Given the description of an element on the screen output the (x, y) to click on. 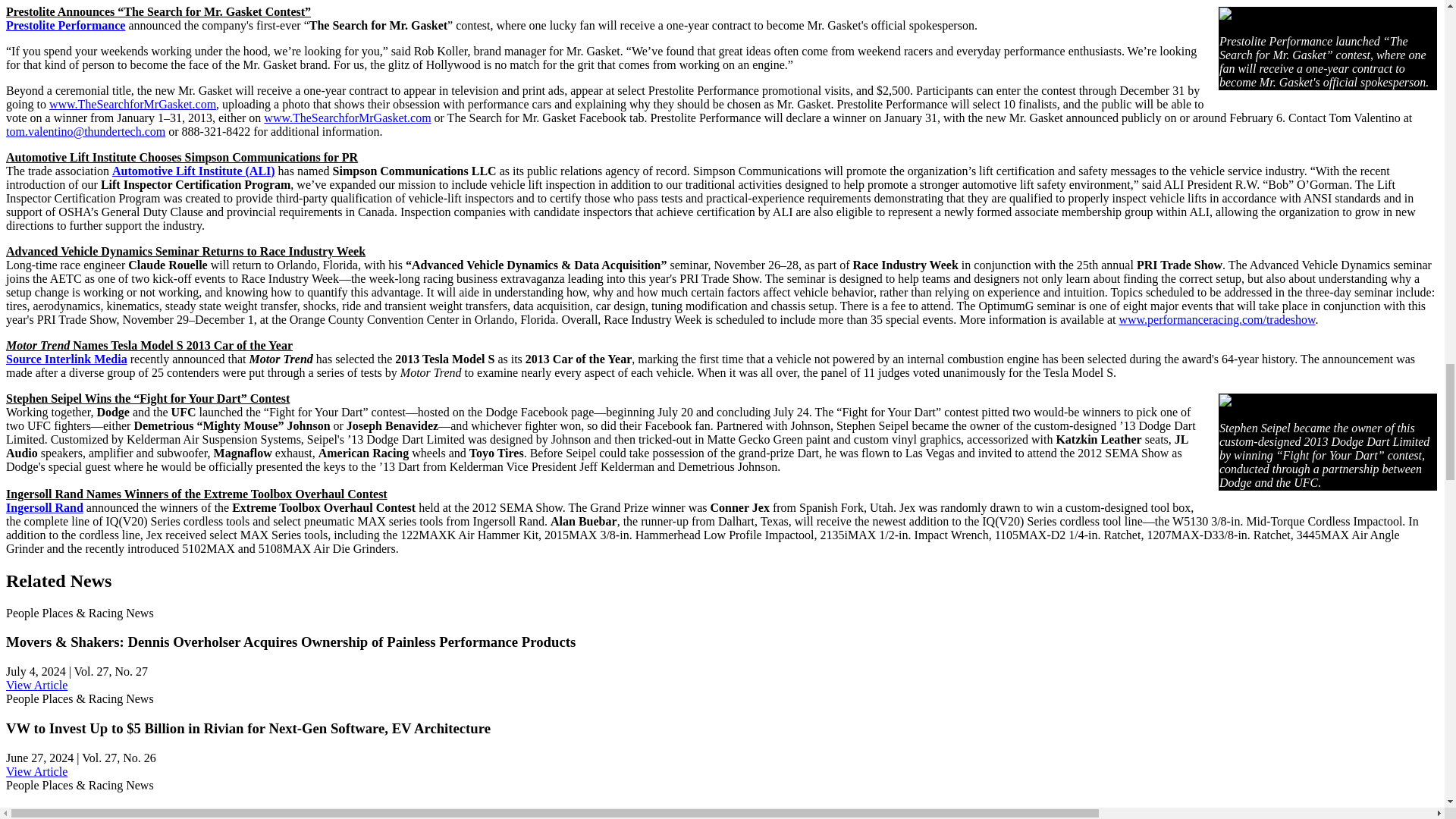
Source Interlink Media (66, 358)
www.TheSearchforMrGasket.com (132, 103)
www.TheSearchforMrGasket.com (346, 117)
Prestolite Performance (65, 24)
Ingersoll Rand (43, 507)
View Article (35, 771)
View Article (35, 684)
